Given the description of an element on the screen output the (x, y) to click on. 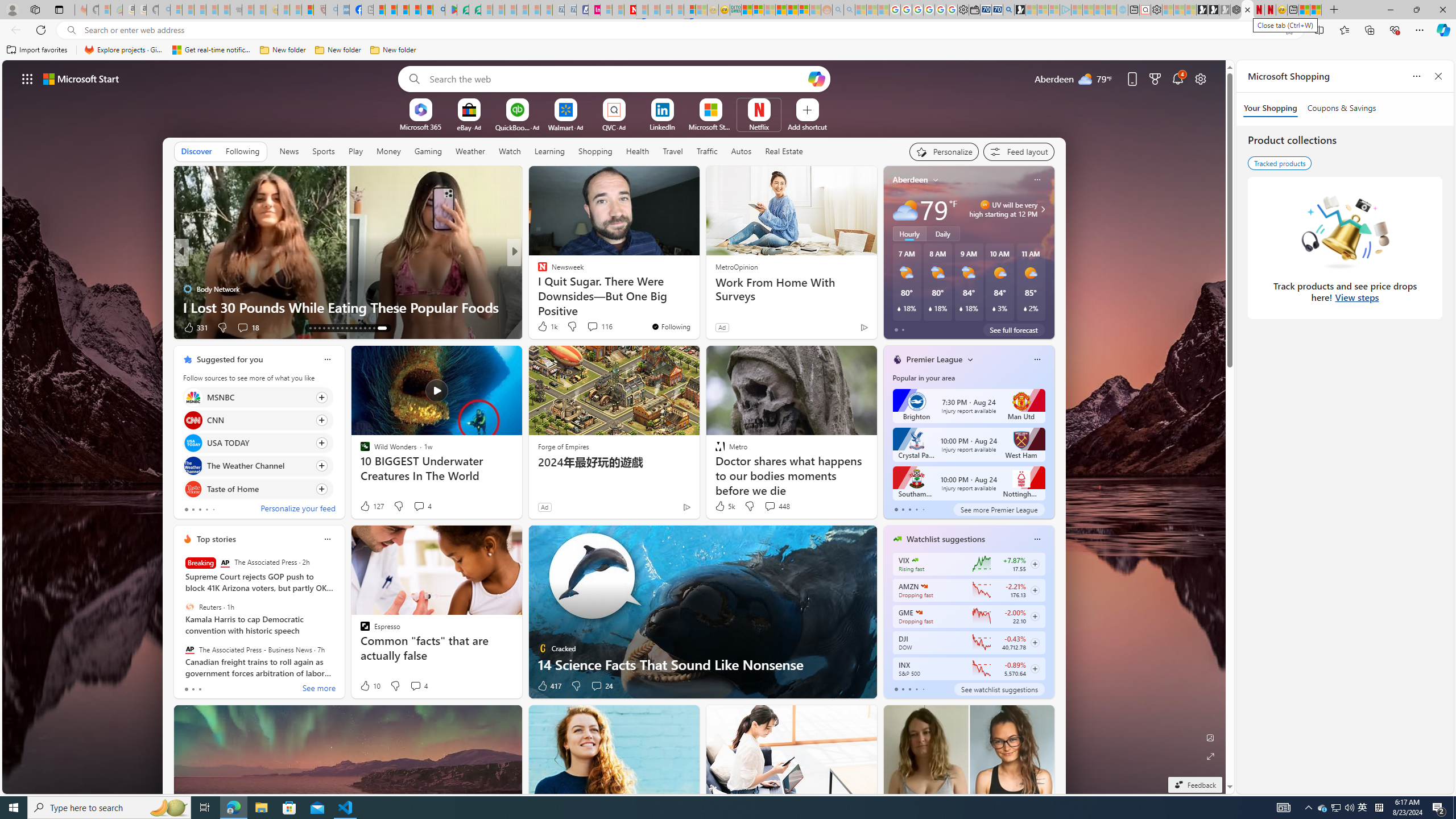
Microsoft Word - consumer-privacy address update 2.2021 (475, 9)
5k Like (724, 505)
Work From Home With Surveys (790, 289)
Expand background (1210, 756)
Bluey: Let's Play! - Apps on Google Play (450, 9)
Click to follow source Taste of Home (257, 488)
Favorites bar (728, 49)
